Given the description of an element on the screen output the (x, y) to click on. 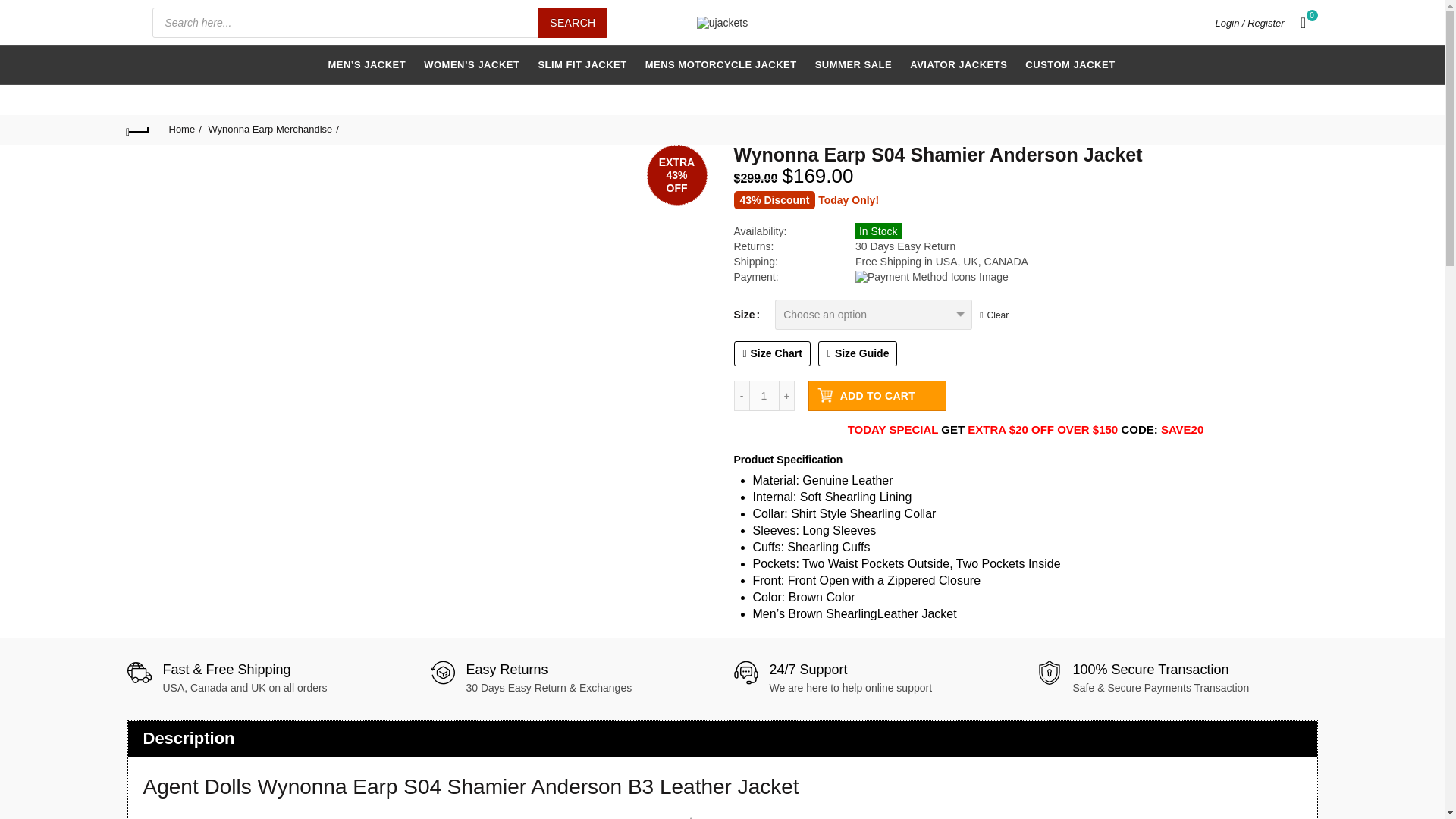
Back (138, 128)
Qty (763, 395)
Wynonna Earp Merchandise (273, 129)
Clear (994, 315)
0 (1304, 22)
ADD TO CART (877, 395)
1 (763, 395)
MENS MOTORCYCLE JACKET (720, 64)
Home (184, 129)
SEARCH (572, 22)
customer-support (745, 672)
Size Guide (858, 353)
AVIATOR JACKETS (957, 64)
Size Chart (771, 353)
SLIM FIT JACKET (581, 64)
